Given the description of an element on the screen output the (x, y) to click on. 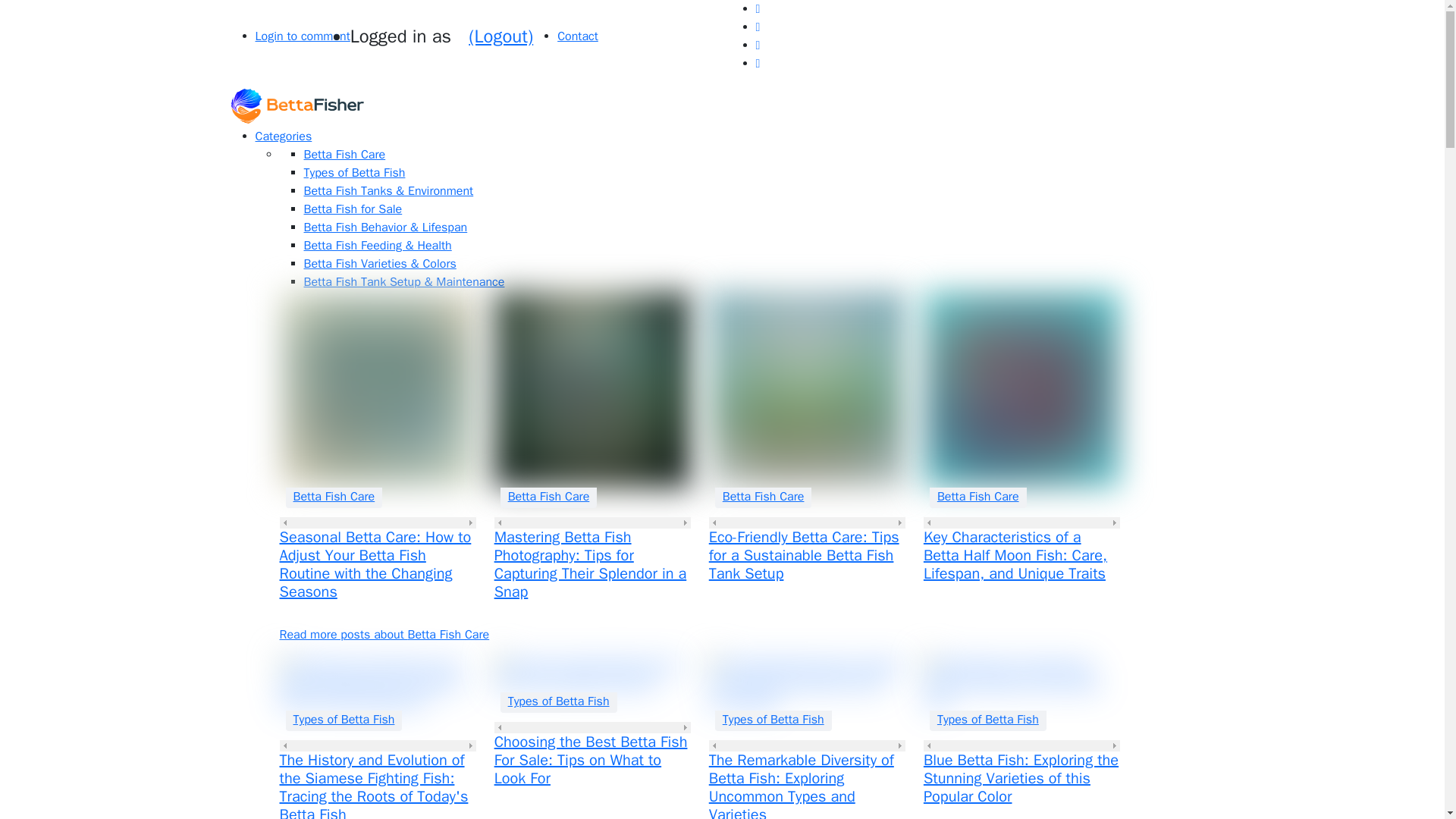
Types of Betta Fish (353, 172)
Contact (577, 36)
Betta Fish Care (978, 496)
Types of Betta Fish (772, 719)
Read more posts about Betta Fish Care (384, 634)
